Given the description of an element on the screen output the (x, y) to click on. 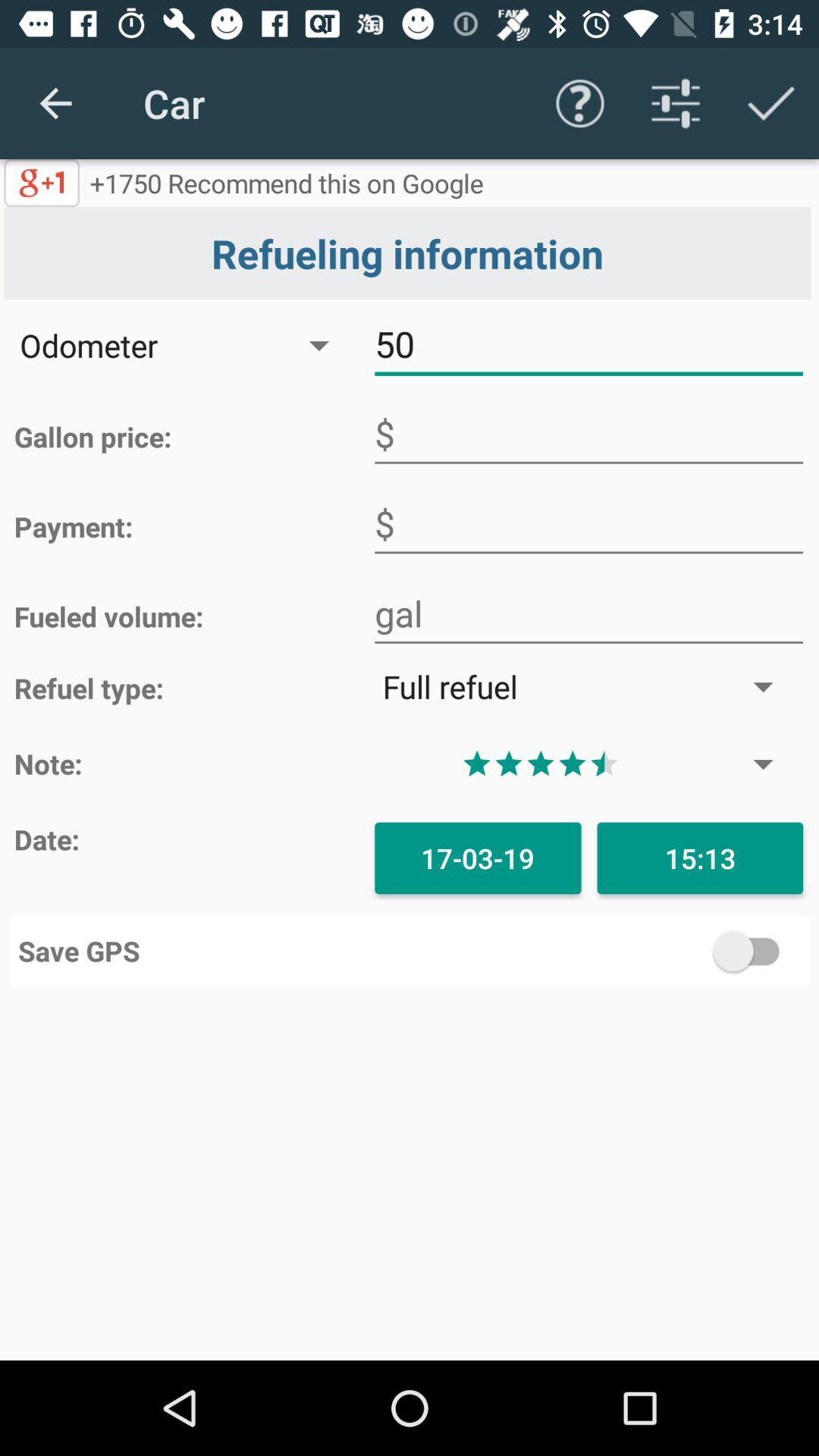
launch item next to save gps icon (604, 951)
